Given the description of an element on the screen output the (x, y) to click on. 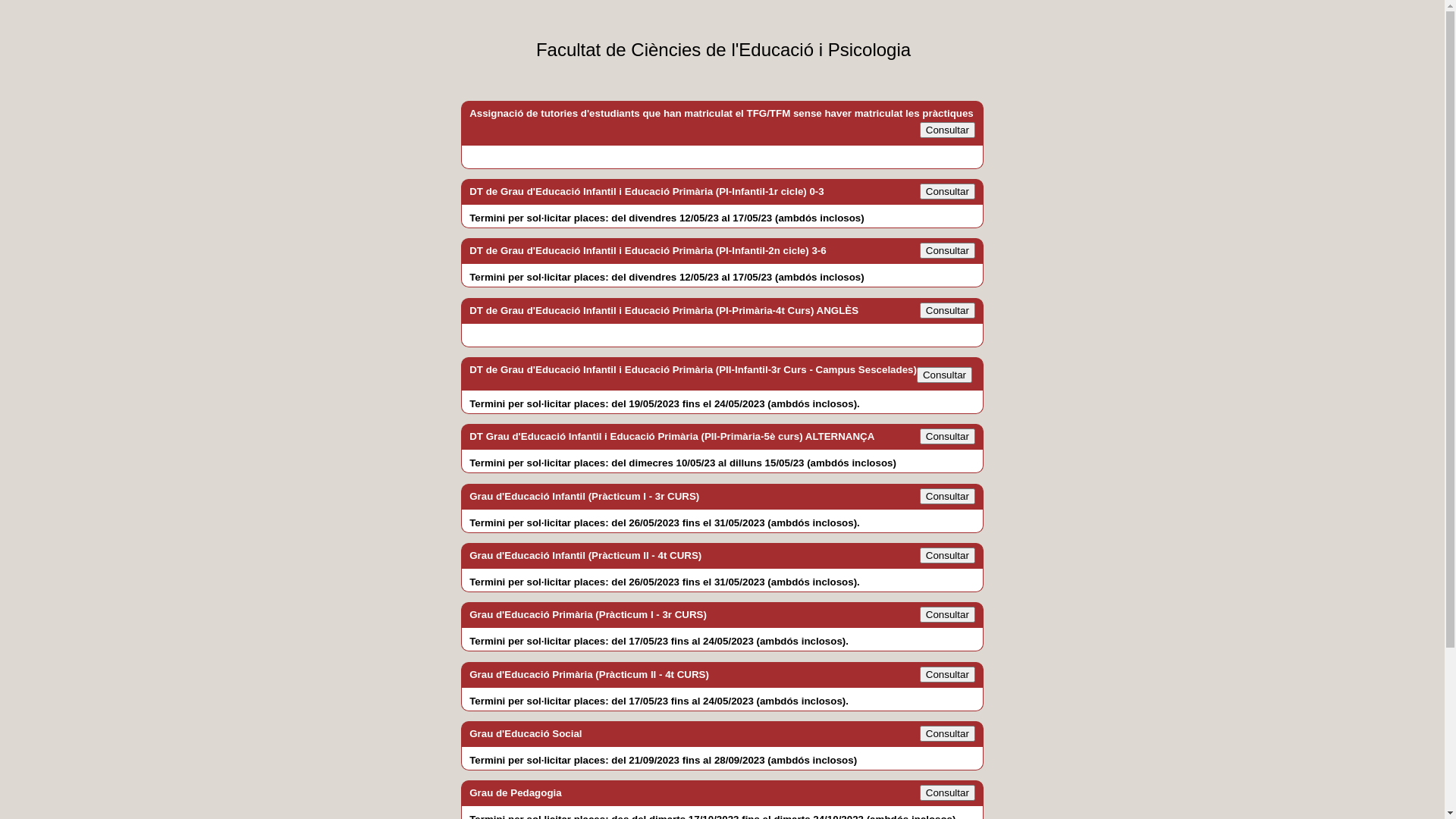
Consultar Element type: text (944, 374)
Consultar Element type: text (947, 436)
Consultar Element type: text (947, 250)
Consultar Element type: text (947, 555)
Consultar Element type: text (947, 614)
Consultar Element type: text (947, 674)
Consultar Element type: text (947, 792)
Consultar Element type: text (947, 191)
Consultar Element type: text (947, 496)
Consultar Element type: text (947, 733)
Consultar Element type: text (947, 130)
Consultar Element type: text (947, 310)
